Given the description of an element on the screen output the (x, y) to click on. 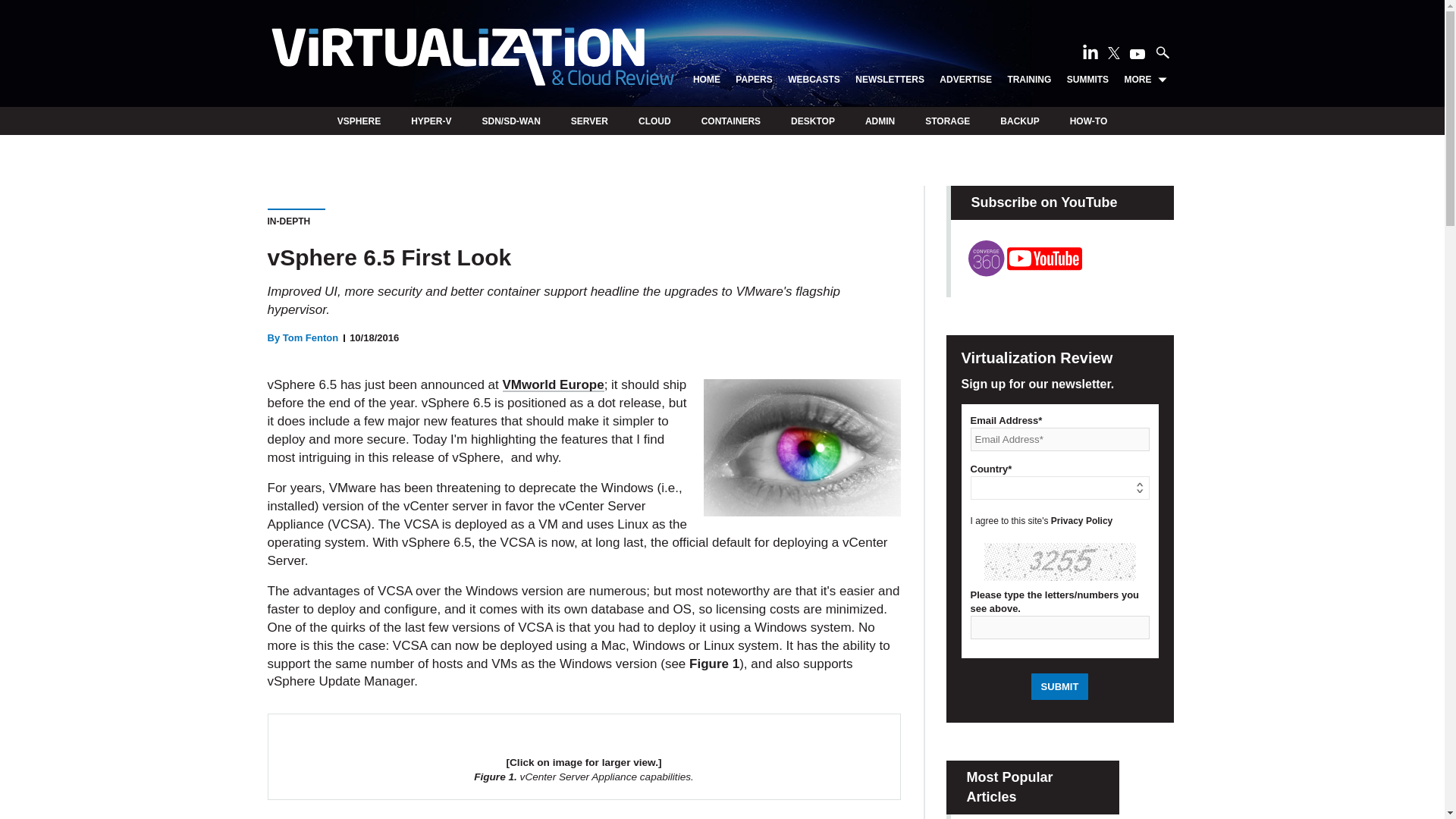
SERVER (589, 121)
MORE (1145, 79)
HOME (706, 79)
TRAINING (1029, 79)
Submit (1059, 686)
VSPHERE (358, 121)
WEBCASTS (813, 79)
HYPER-V (430, 121)
NEWSLETTERS (890, 79)
CLOUD (655, 121)
ADVERTISE (965, 79)
SUMMITS (1087, 79)
PAPERS (753, 79)
